Given the description of an element on the screen output the (x, y) to click on. 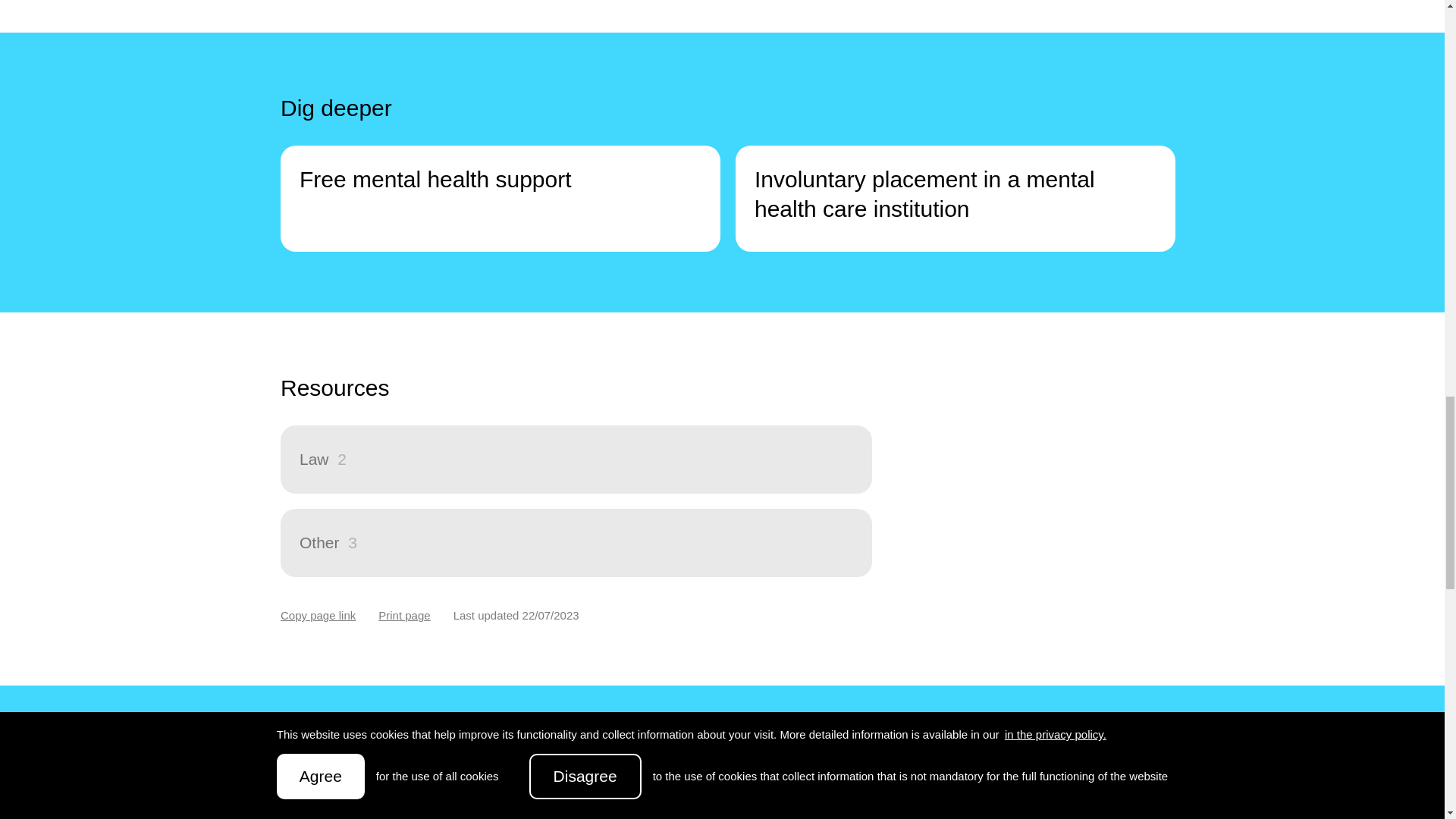
Copy page link (318, 615)
Other  3 (576, 542)
Print page (403, 615)
Law  2 (576, 459)
Free mental health support (500, 198)
Involuntary placement in a mental health care institution (955, 198)
